Given the description of an element on the screen output the (x, y) to click on. 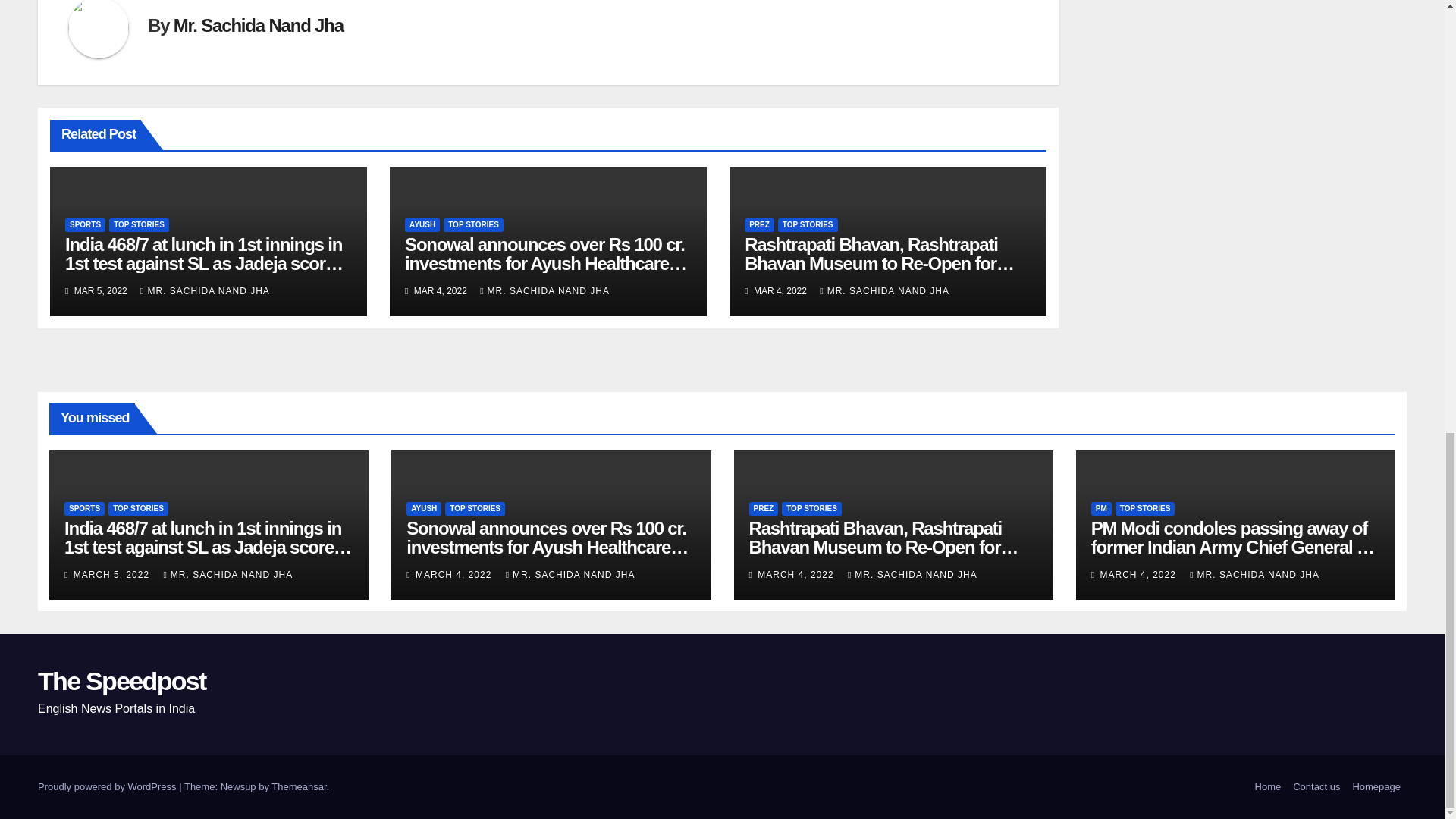
SPORTS (84, 224)
TOP STORIES (138, 224)
Mr. Sachida Nand Jha (258, 25)
